Given the description of an element on the screen output the (x, y) to click on. 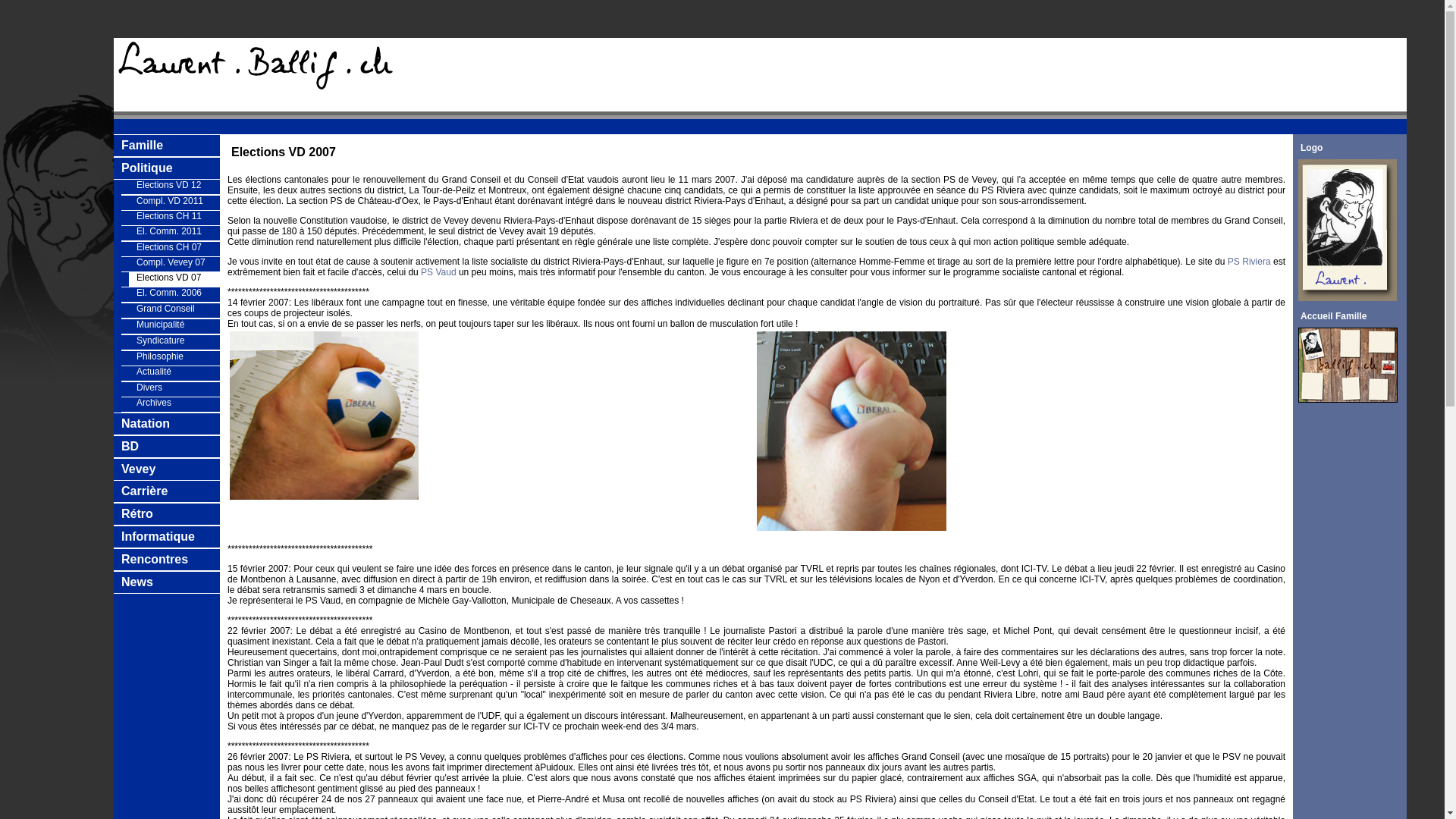
Natation Element type: text (170, 423)
El. Comm. 2011 Element type: text (173, 232)
Elections VD 07 Element type: text (176, 277)
Natation Element type: text (145, 423)
Compl. VD 2011 Element type: text (176, 200)
Divers Element type: text (176, 387)
Divers Element type: text (173, 389)
Vevey Element type: text (138, 468)
Elections VD 07 Element type: text (173, 279)
Politique Element type: text (146, 167)
News Element type: text (170, 582)
Philosophie Element type: text (176, 356)
Grand Conseil Element type: text (176, 308)
Syndicature Element type: text (173, 342)
PS Vaud Element type: text (439, 271)
BD Element type: text (170, 446)
Philosophie Element type: text (173, 358)
Elections CH 07 Element type: text (173, 248)
PS Riviera Element type: text (1250, 261)
Compl. VD 2011 Element type: text (173, 202)
Elections CH 11 Element type: text (173, 217)
Elections CH 07 Element type: text (176, 246)
BD Element type: text (129, 445)
News Element type: text (137, 581)
El. Comm. 2011 Element type: text (176, 230)
Syndicature Element type: text (176, 340)
Archives Element type: text (176, 402)
Elections CH 11 Element type: text (176, 215)
Grand Conseil Element type: text (173, 310)
Elections VD 12 Element type: text (176, 184)
Famille Element type: text (142, 144)
Informatique Element type: text (170, 536)
El. Comm. 2006 Element type: text (173, 294)
El. Comm. 2006 Element type: text (176, 292)
Informatique Element type: text (157, 536)
Rencontres Element type: text (170, 559)
Compl. Vevey 07 Element type: text (176, 262)
Rencontres Element type: text (154, 558)
Elections VD 12 Element type: text (173, 186)
Vevey Element type: text (170, 469)
Politique Element type: text (170, 167)
Archives Element type: text (173, 404)
Famille Element type: text (170, 145)
Compl. Vevey 07 Element type: text (173, 264)
